Given the description of an element on the screen output the (x, y) to click on. 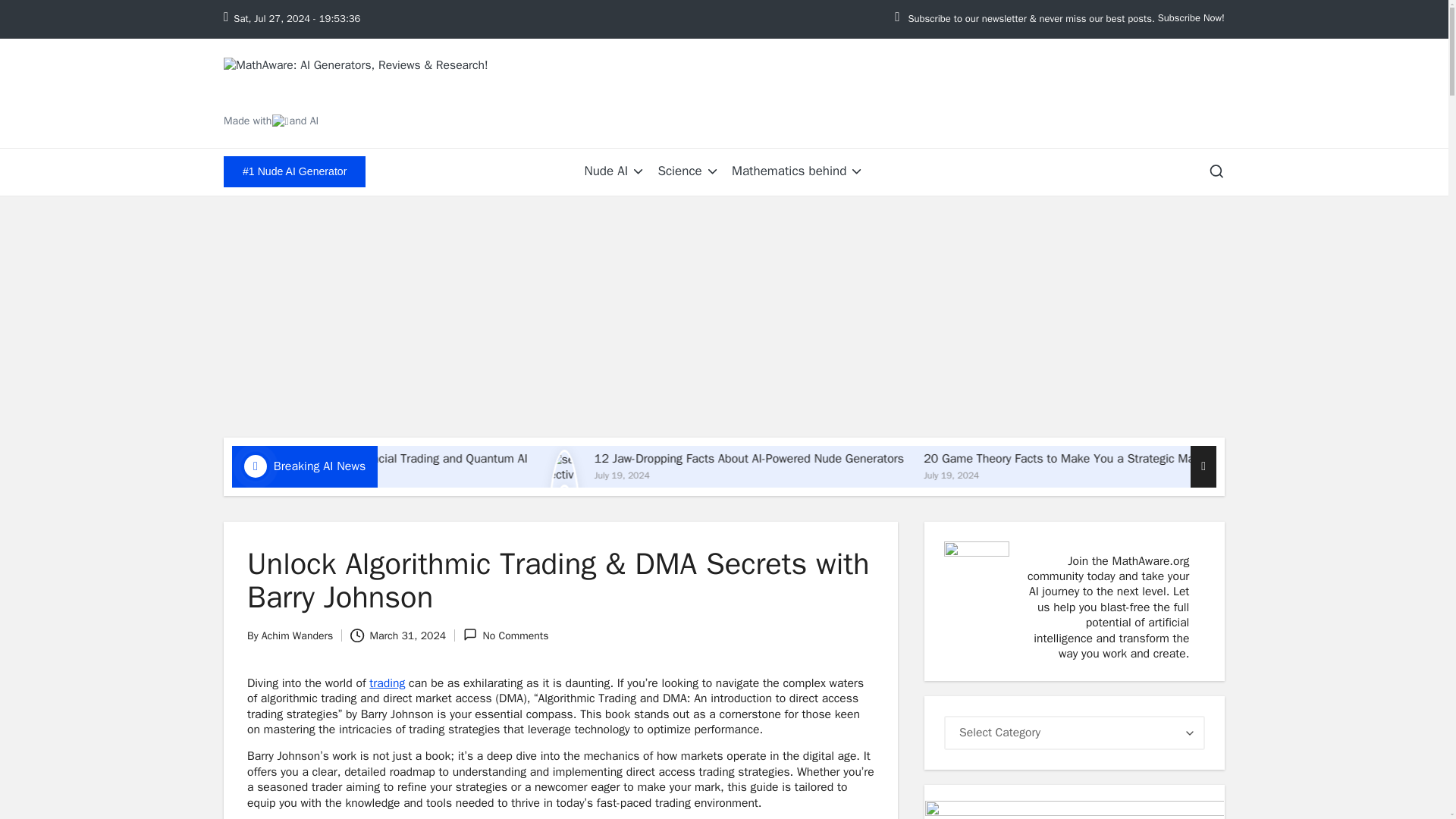
Subscribe Now! (1190, 18)
selective focus photo of an amazed boy reading a book (718, 544)
